Given the description of an element on the screen output the (x, y) to click on. 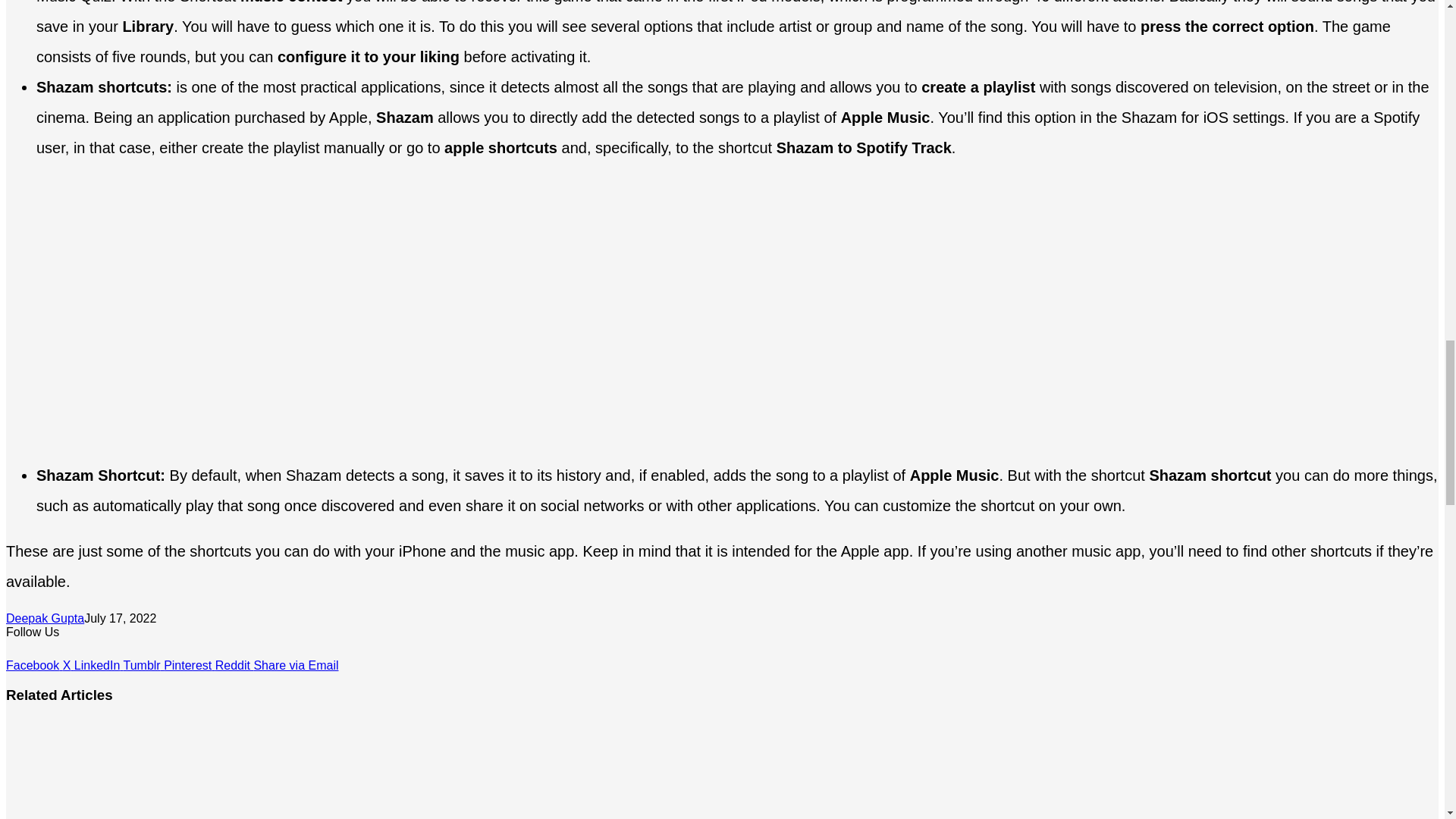
X (68, 665)
Tumblr (142, 665)
Pinterest (189, 665)
Pinterest (189, 665)
Deepak Gupta (44, 617)
Reddit (234, 665)
LinkedIn (98, 665)
Google News (51, 651)
Facebook (33, 665)
Deepak Gupta (44, 617)
X (68, 665)
Reddit (234, 665)
Facebook (33, 665)
LinkedIn (98, 665)
Share via Email (295, 665)
